Given the description of an element on the screen output the (x, y) to click on. 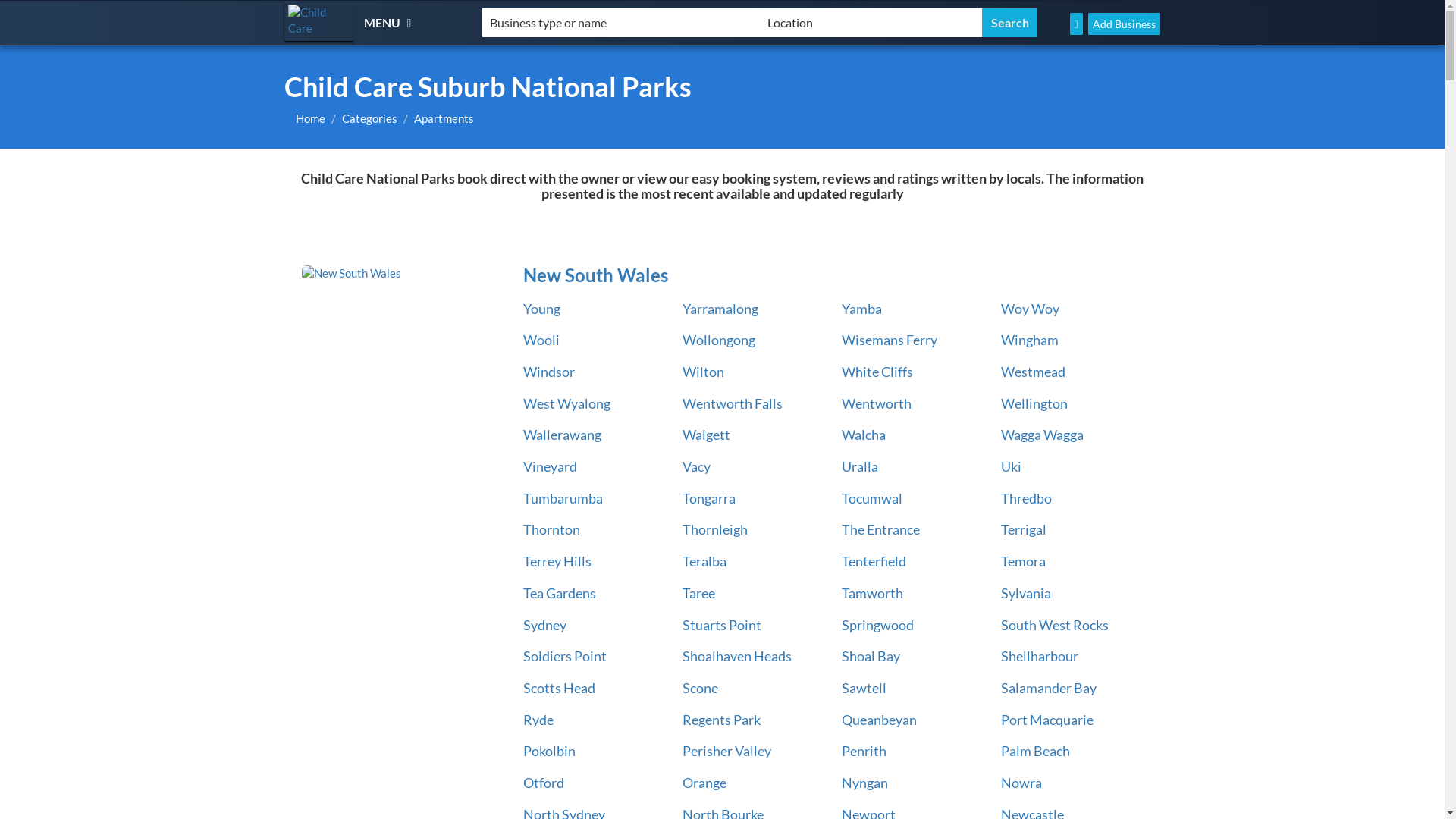
Vacy Element type: text (696, 466)
New South Wales Element type: hover (398, 273)
Child Care Home Page Element type: hover (1076, 23)
Categories Element type: text (369, 118)
Apartments Element type: text (443, 118)
Uki Element type: text (1011, 466)
Wooli Element type: text (541, 339)
Orange Element type: text (704, 782)
Tocumwal Element type: text (871, 497)
Palm Beach Element type: text (1035, 750)
Terrey Hills Element type: text (557, 560)
South West Rocks Element type: text (1054, 624)
Wentworth Falls Element type: text (732, 403)
Wilton Element type: text (703, 371)
Walcha Element type: text (863, 434)
Westmead Element type: text (1033, 371)
Otford Element type: text (543, 782)
Woy Woy Element type: text (1030, 308)
Uralla Element type: text (859, 466)
Thornleigh Element type: text (714, 528)
Wellington Element type: text (1034, 403)
Nowra Element type: text (1021, 782)
Sawtell Element type: text (863, 687)
Queanbeyan Element type: text (878, 719)
Tumbarumba Element type: text (562, 497)
Wisemans Ferry Element type: text (889, 339)
Tenterfield Element type: text (873, 560)
Tamworth Element type: text (872, 592)
Wagga Wagga Element type: text (1042, 434)
Thornton Element type: text (551, 528)
Wallerawang Element type: text (562, 434)
Sylvania Element type: text (1026, 592)
Wingham Element type: text (1029, 339)
MENU Element type: text (389, 22)
Home Element type: text (310, 118)
Sydney Element type: text (544, 624)
Add Business Element type: text (1124, 23)
Terrigal Element type: text (1023, 528)
Scotts Head Element type: text (559, 687)
Regents Park Element type: text (721, 719)
Shellharbour Element type: text (1039, 655)
Shoal Bay Element type: text (870, 655)
Port Macquarie Element type: text (1047, 719)
Windsor Element type: text (548, 371)
Walgett Element type: text (706, 434)
Salamander Bay Element type: text (1048, 687)
Temora Element type: text (1023, 560)
West Wyalong Element type: text (566, 403)
Vineyard Element type: text (550, 466)
Teralba Element type: text (704, 560)
Yamba Element type: text (861, 308)
Tongarra Element type: text (708, 497)
Springwood Element type: text (877, 624)
Ryde Element type: text (538, 719)
Tea Gardens Element type: text (559, 592)
Child Care Element type: hover (319, 20)
Thredbo Element type: text (1026, 497)
Penrith Element type: text (863, 750)
Yarramalong Element type: text (720, 308)
Young Element type: text (541, 308)
Stuarts Point Element type: text (721, 624)
Taree Element type: text (698, 592)
Scone Element type: text (700, 687)
Search Element type: text (1009, 22)
Wentworth Element type: text (876, 403)
Perisher Valley Element type: text (726, 750)
The Entrance Element type: text (880, 528)
Wollongong Element type: text (718, 339)
White Cliffs Element type: text (877, 371)
Soldiers Point Element type: text (564, 655)
Nyngan Element type: text (864, 782)
Shoalhaven Heads Element type: text (736, 655)
New South Wales Element type: text (830, 275)
Pokolbin Element type: text (549, 750)
